Given the description of an element on the screen output the (x, y) to click on. 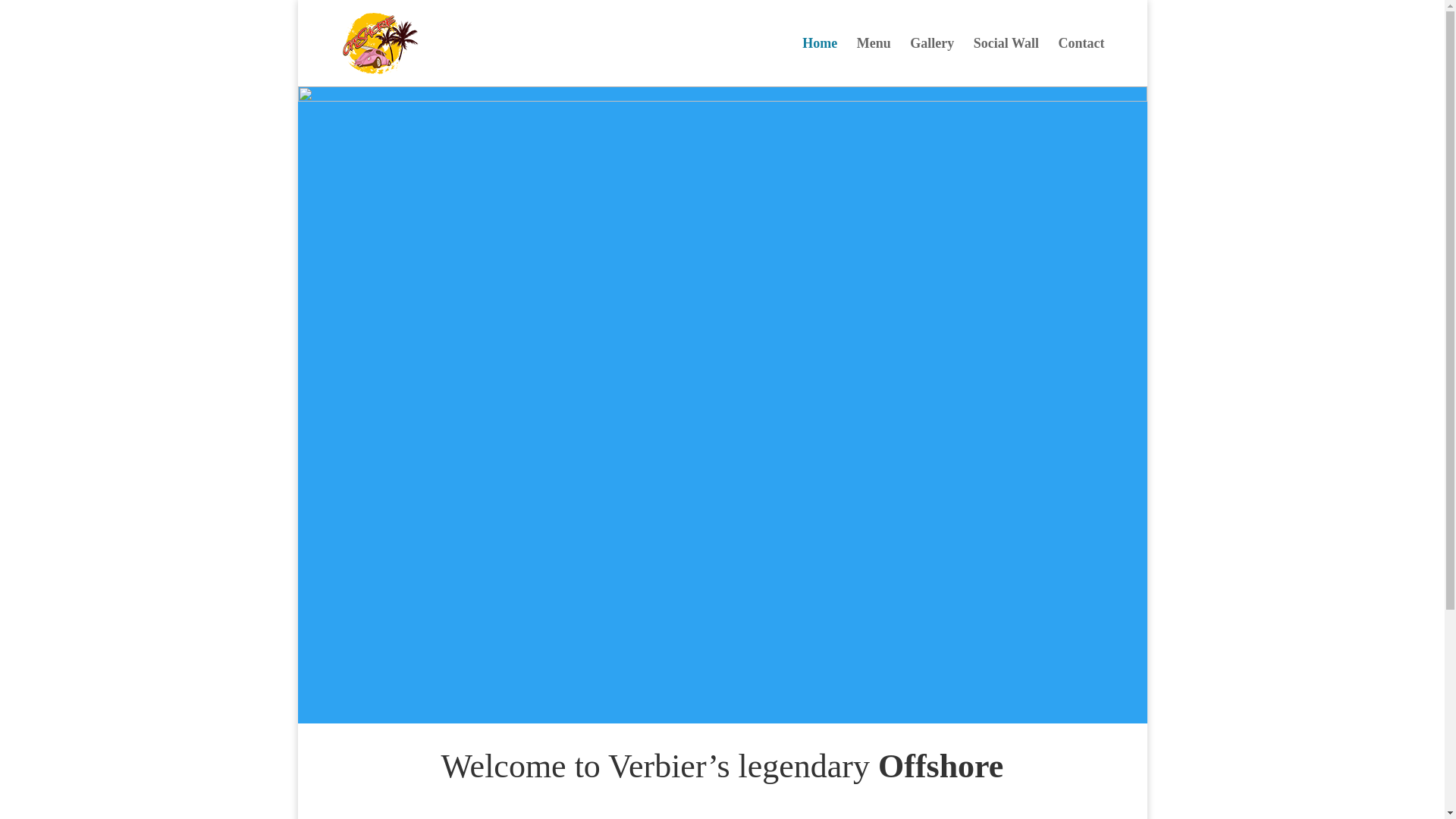
Contact (1081, 61)
Gallery (931, 61)
Social Wall (1006, 61)
